Given the description of an element on the screen output the (x, y) to click on. 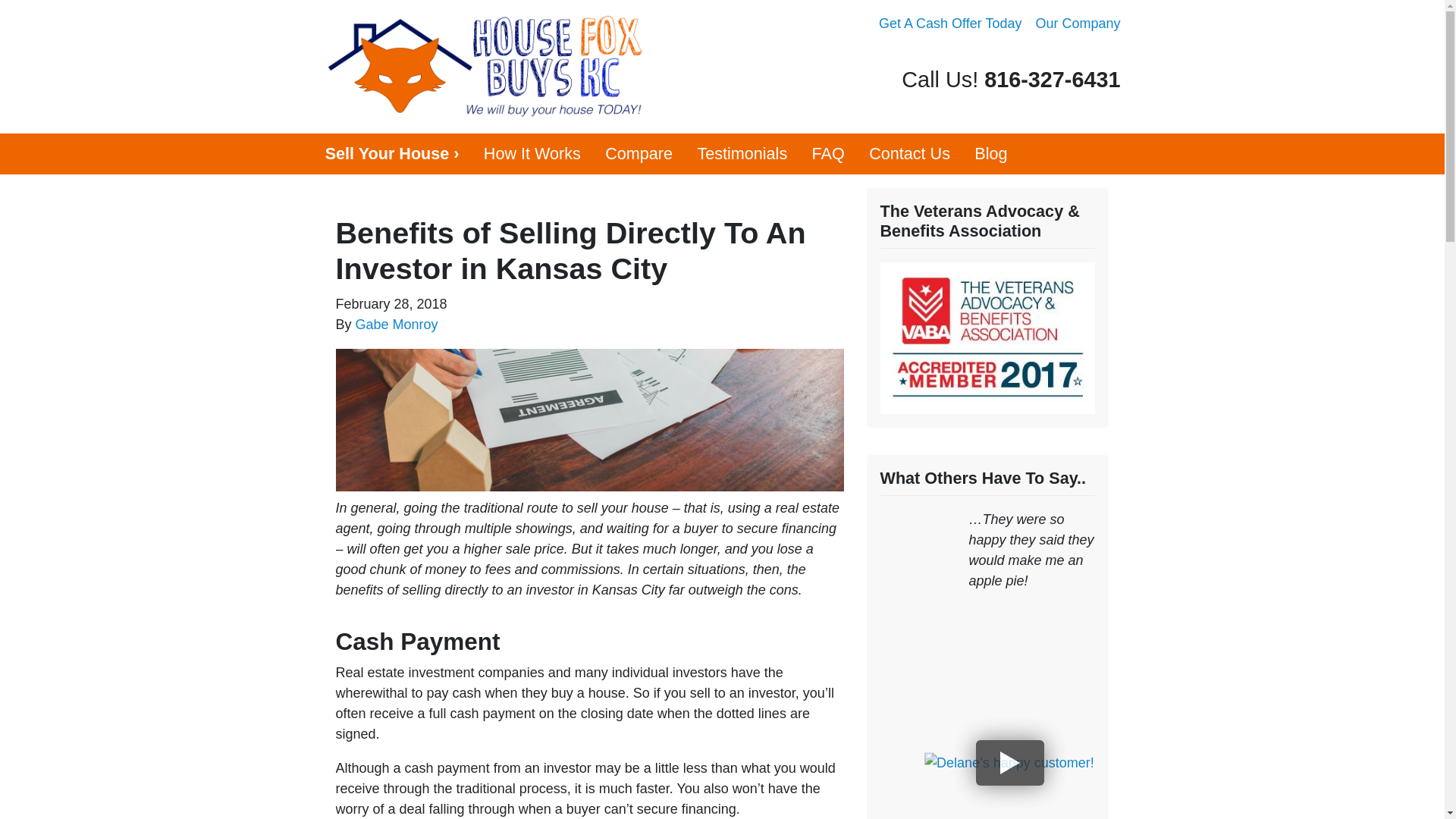
Gabe Monroy (396, 324)
Testimonials (741, 153)
How It Works (531, 153)
Our Company (1076, 23)
Compare (638, 153)
Blog (991, 153)
Testimonials (741, 153)
FAQ (828, 153)
Compare (638, 153)
YouTube (1111, 54)
Facebook (1090, 54)
Get A Cash Offer Today (949, 23)
Contact Us (909, 153)
How It Works (531, 153)
FAQ (828, 153)
